Given the description of an element on the screen output the (x, y) to click on. 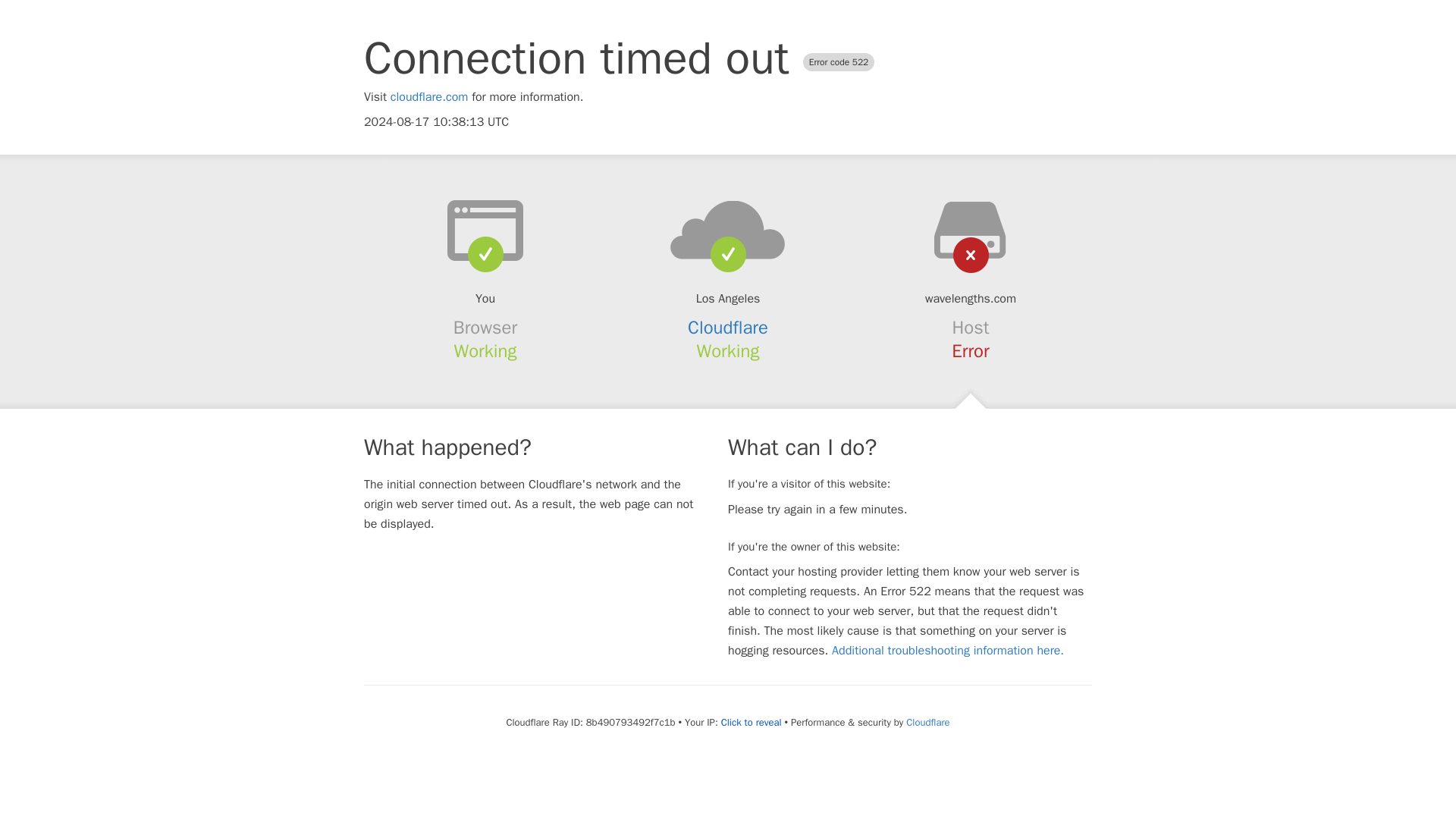
Additional troubleshooting information here. (947, 650)
cloudflare.com (429, 96)
Cloudflare (727, 327)
Click to reveal (750, 722)
Cloudflare (927, 721)
